Given the description of an element on the screen output the (x, y) to click on. 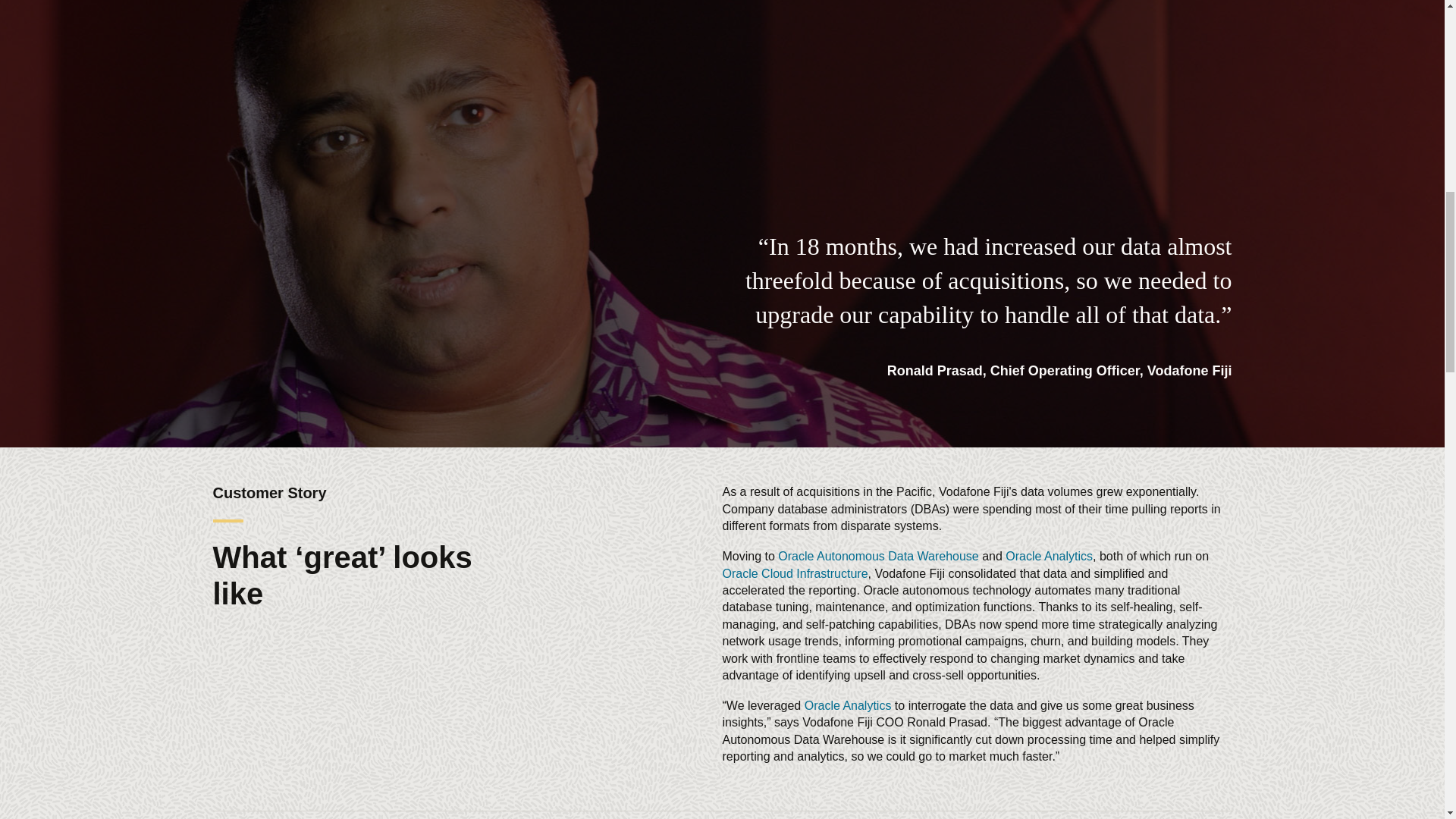
Oracle Analytics (1049, 555)
Oracle Cloud Infrastructure (794, 573)
Oracle Autonomous Data Warehouse (877, 555)
Oracle Analytics (848, 705)
